Given the description of an element on the screen output the (x, y) to click on. 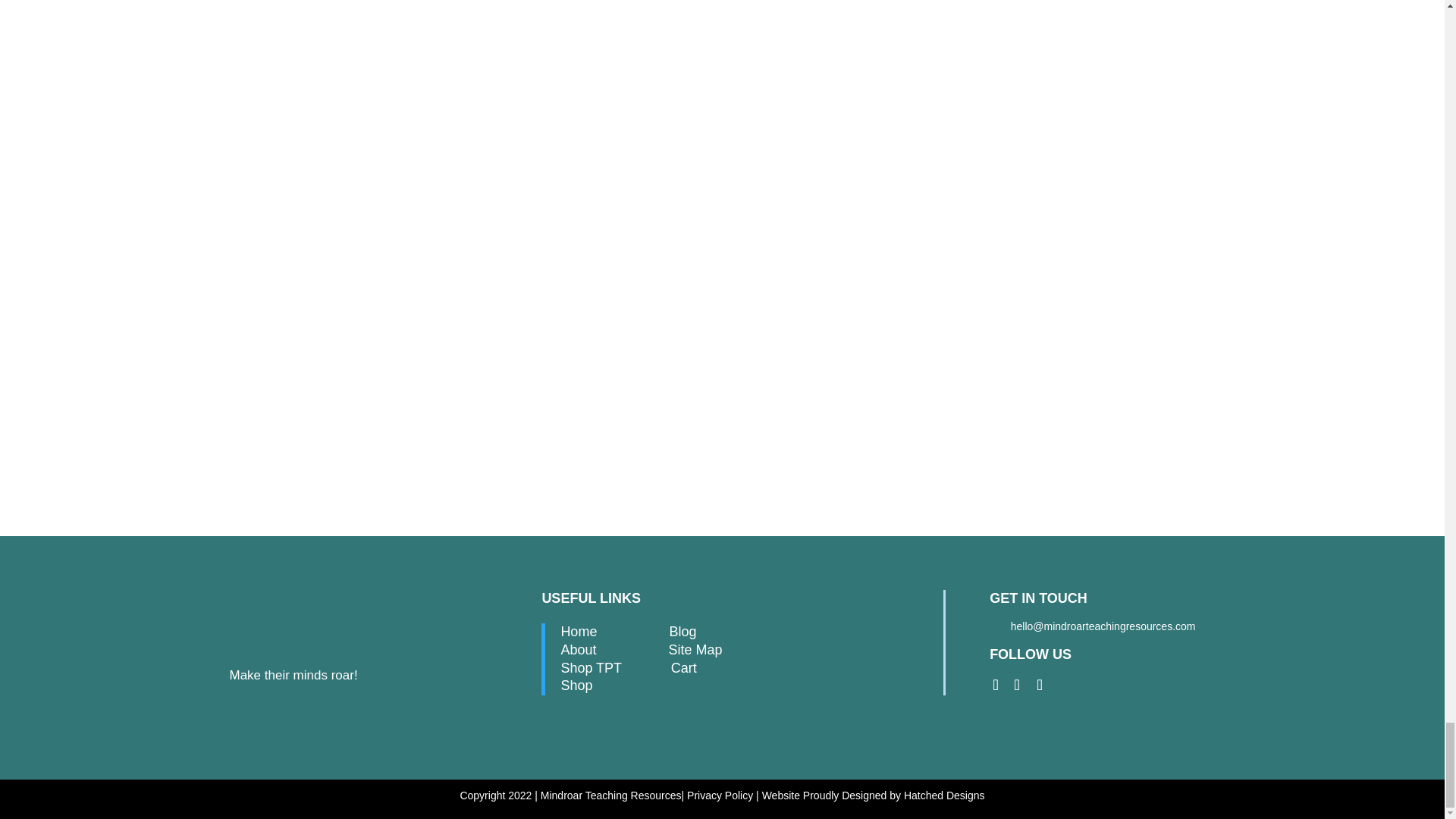
Follow on Instagram (994, 684)
Follow on Pinterest (1039, 684)
Follow on Facebook (1016, 684)
